Given the description of an element on the screen output the (x, y) to click on. 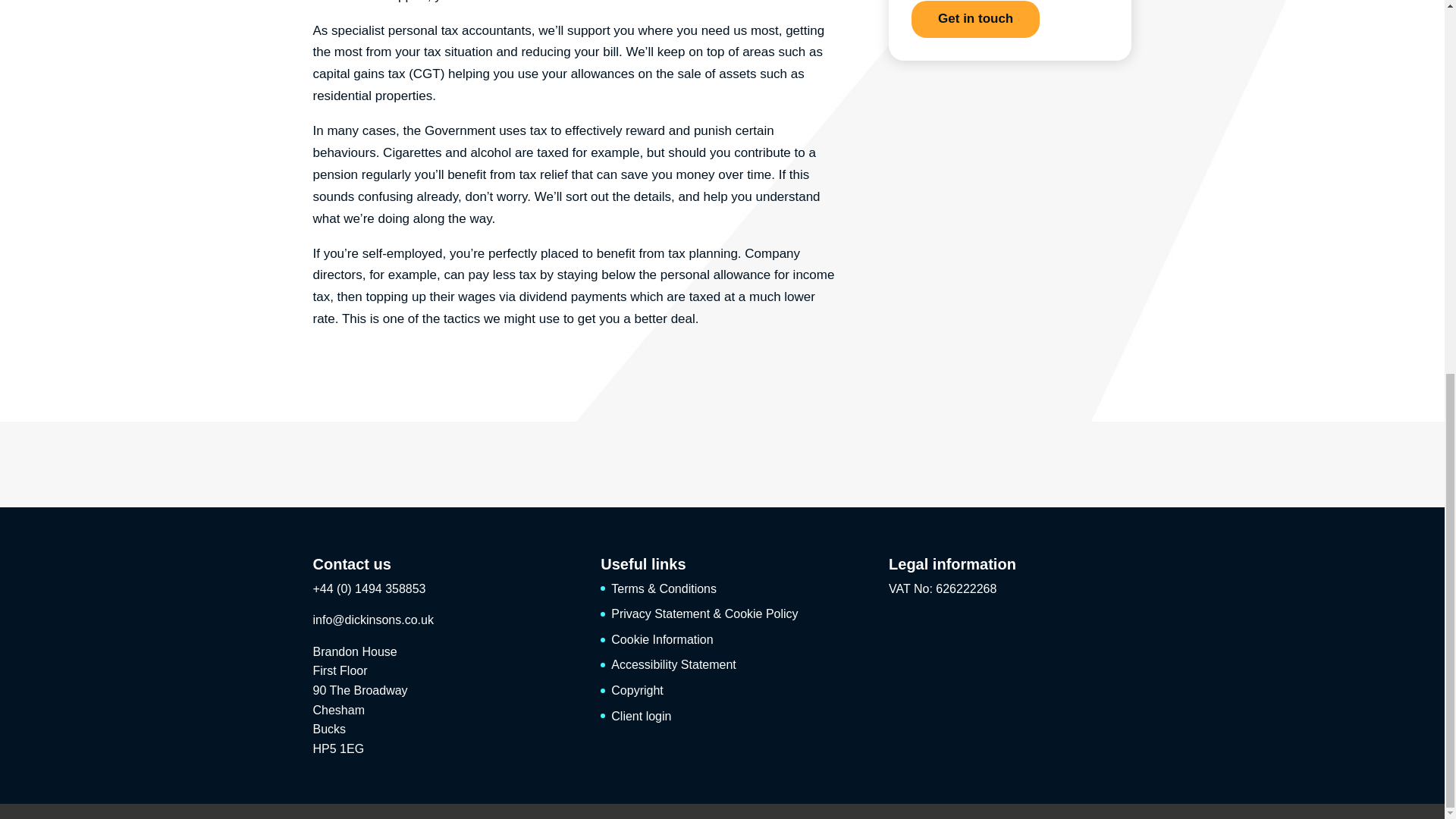
ICAEW (505, 458)
Quickbooks (937, 462)
association-of-taxation-technicians-att-logo-vector (362, 463)
xero-partner (793, 460)
Freeagent (648, 463)
Sage (1081, 467)
